Given the description of an element on the screen output the (x, y) to click on. 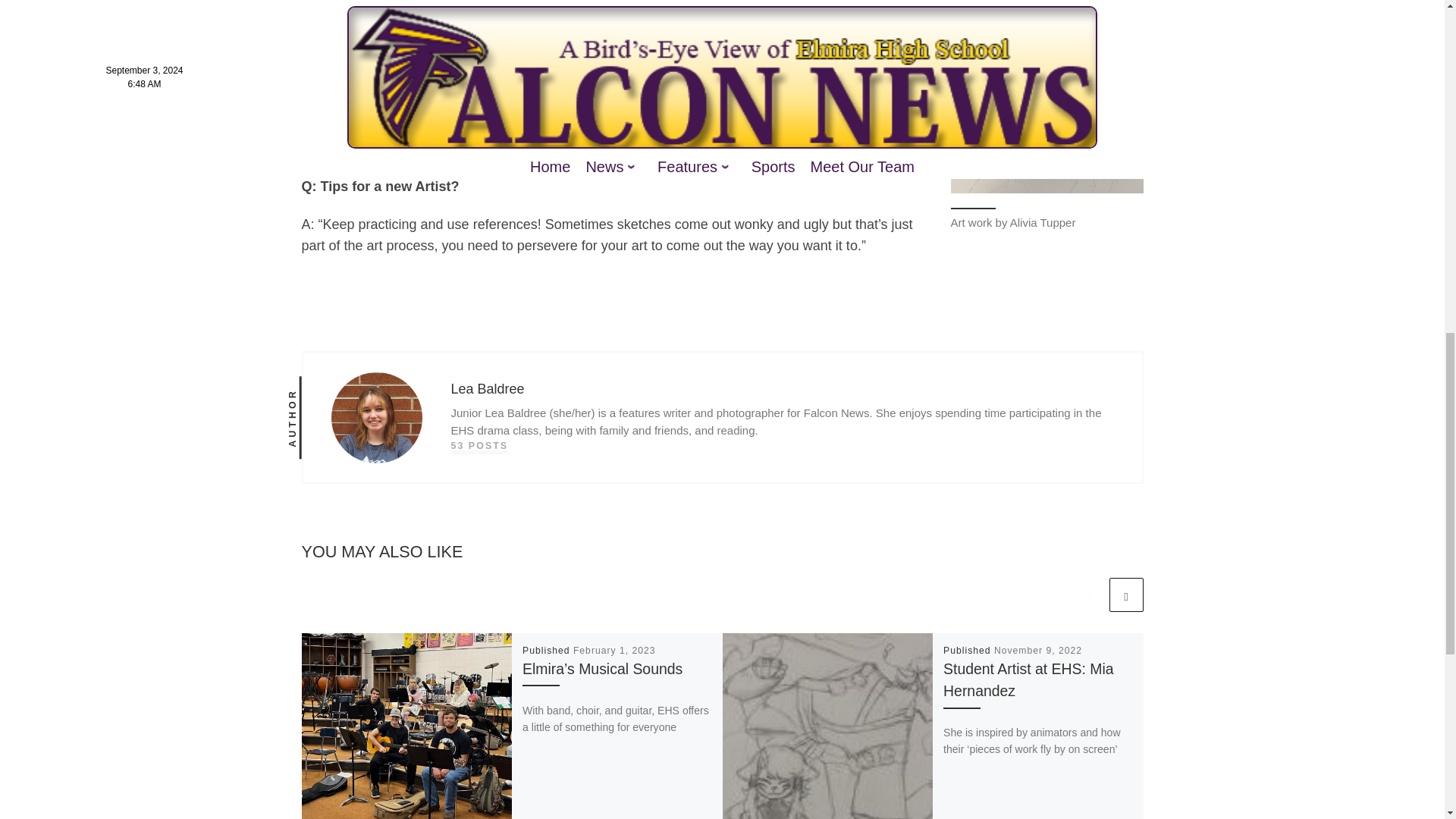
November 9, 2022 (1037, 650)
Student Artist at EHS: Mia Hernandez (1028, 679)
View all the posts of the author (478, 445)
Next related articles (1125, 594)
Previous related articles (1088, 594)
February 1, 2023 (614, 650)
53 POSTS (478, 445)
